Given the description of an element on the screen output the (x, y) to click on. 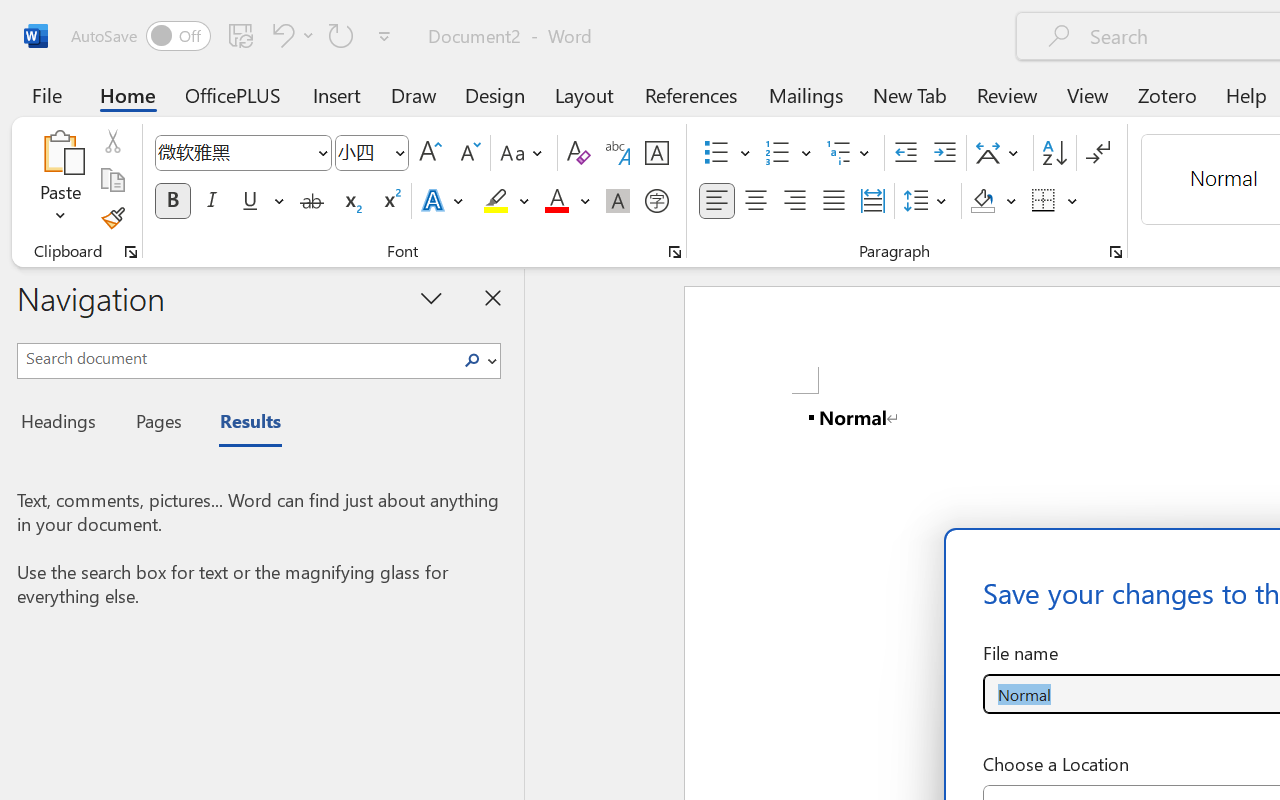
Line and Paragraph Spacing (927, 201)
Asian Layout (1000, 153)
Paste (60, 179)
Align Left (716, 201)
Multilevel List (850, 153)
Justify (834, 201)
Office Clipboard... (131, 252)
Font... (675, 252)
Character Shading (618, 201)
Numbering (778, 153)
Change Case (524, 153)
Quick Access Toolbar (233, 36)
File Tab (46, 94)
Font (242, 153)
